Given the description of an element on the screen output the (x, y) to click on. 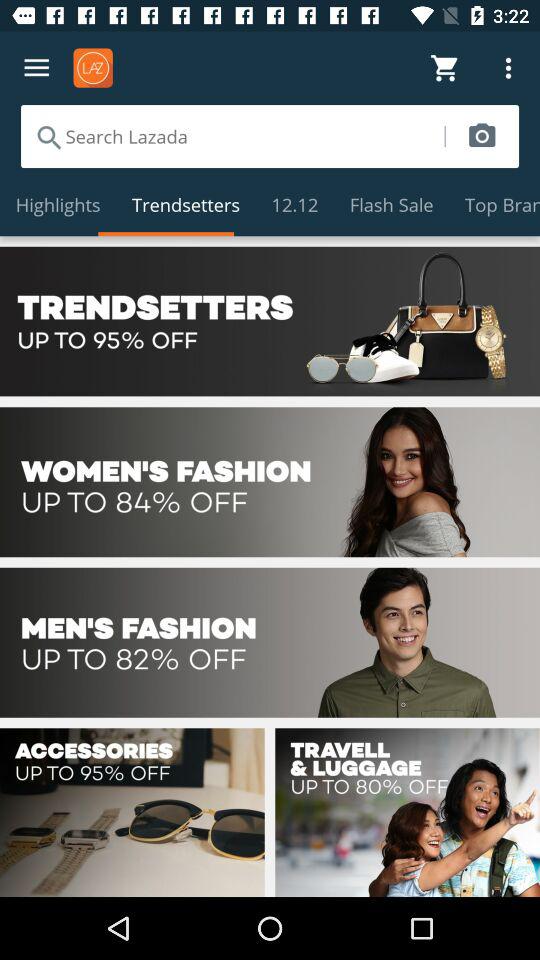
see men 's fashion (270, 642)
